Given the description of an element on the screen output the (x, y) to click on. 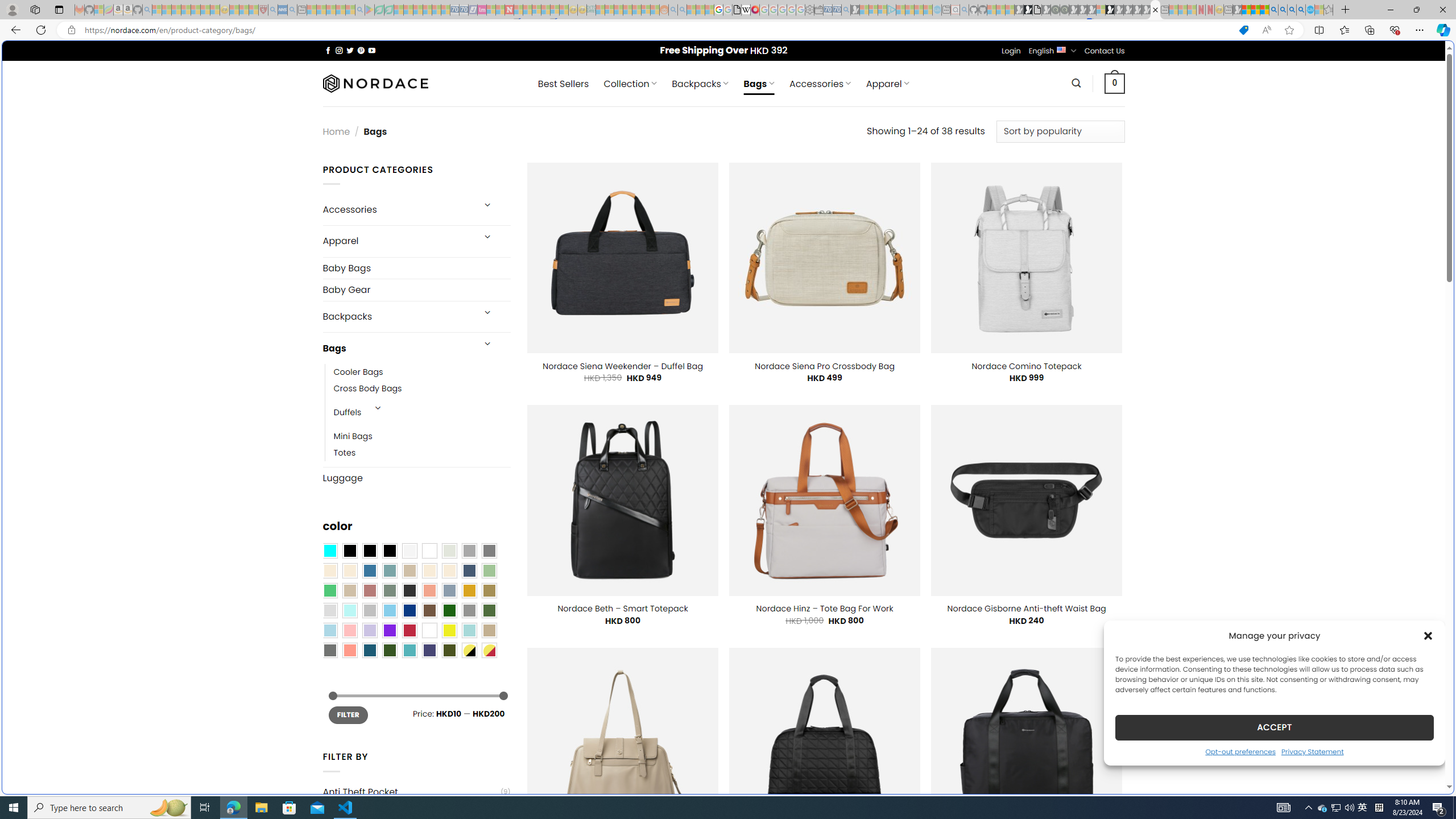
Emerald Green (329, 590)
Forest (389, 649)
Search or enter web address (922, 108)
Contact Us (1104, 50)
Follow on Twitter (349, 49)
Cooler Bags (357, 371)
Close split screen (1208, 57)
